Given the description of an element on the screen output the (x, y) to click on. 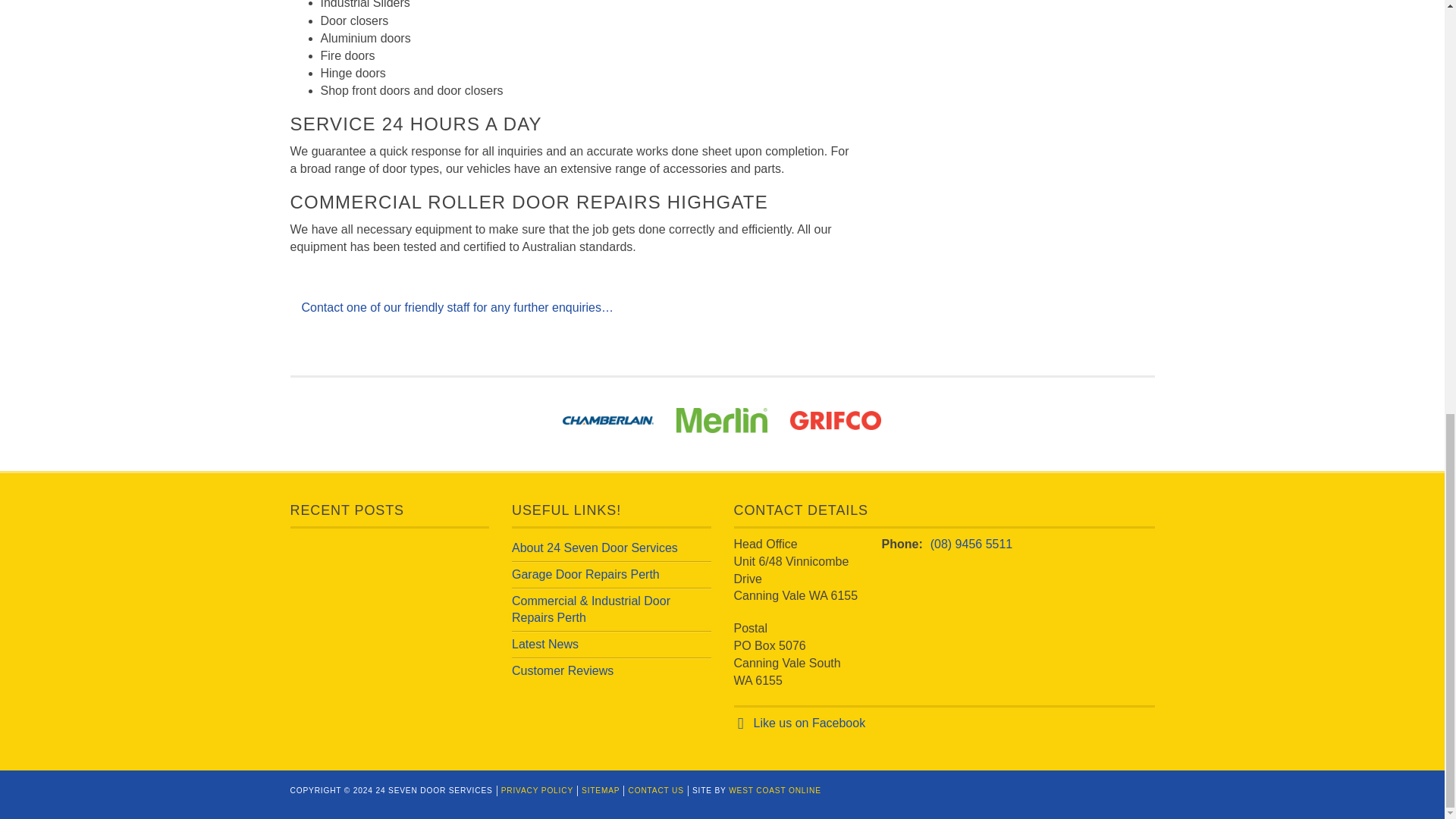
Like us on Facebook (810, 722)
PRIVACY POLICY (536, 790)
About 24 Seven Door Services (595, 547)
Customer Reviews (562, 670)
Latest News (545, 644)
SITEMAP (600, 790)
WEST COAST ONLINE (775, 790)
Garage Door Repairs Perth (585, 574)
CONTACT US (654, 790)
